Given the description of an element on the screen output the (x, y) to click on. 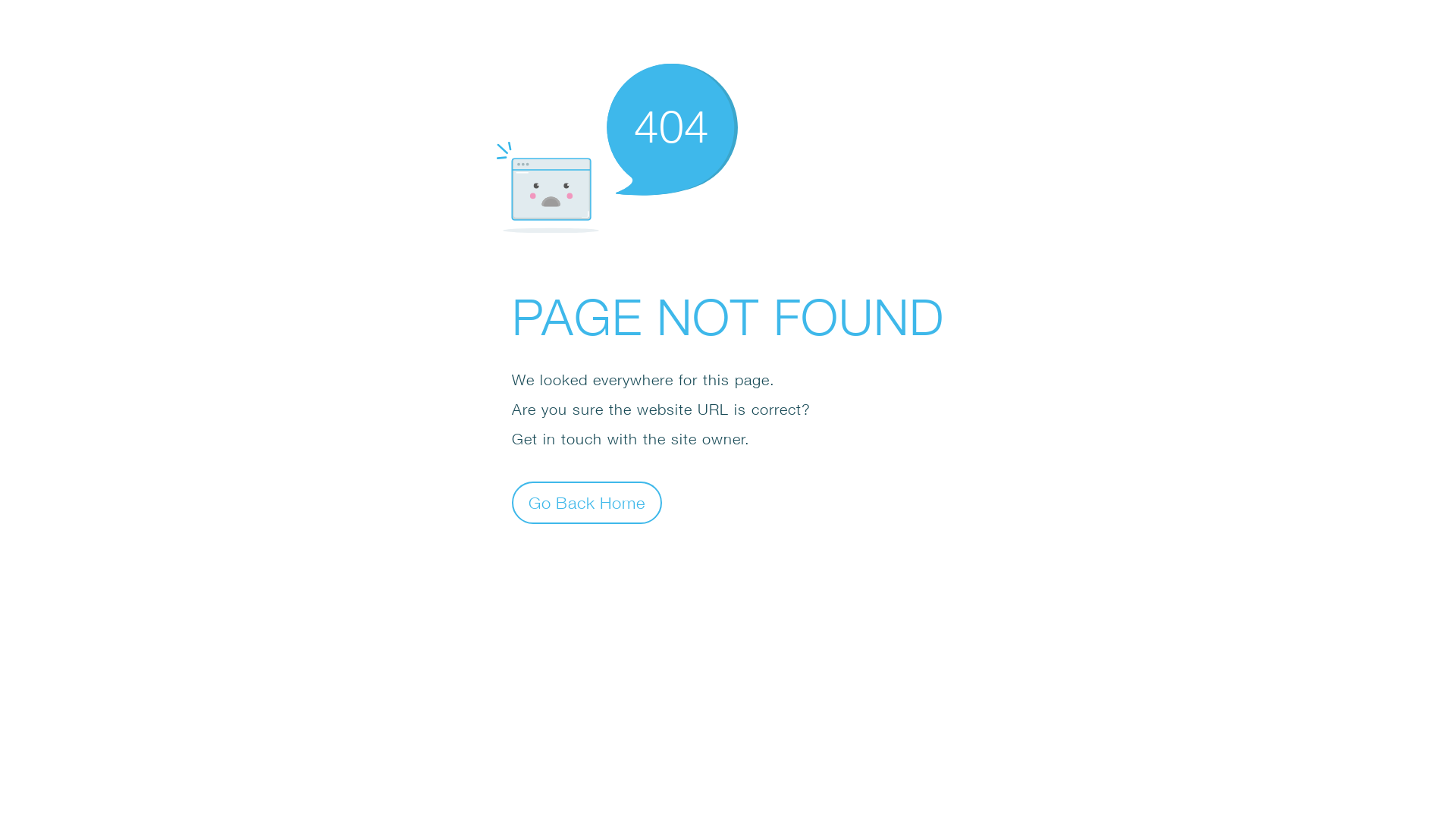
Go Back Home Element type: text (586, 502)
